Given the description of an element on the screen output the (x, y) to click on. 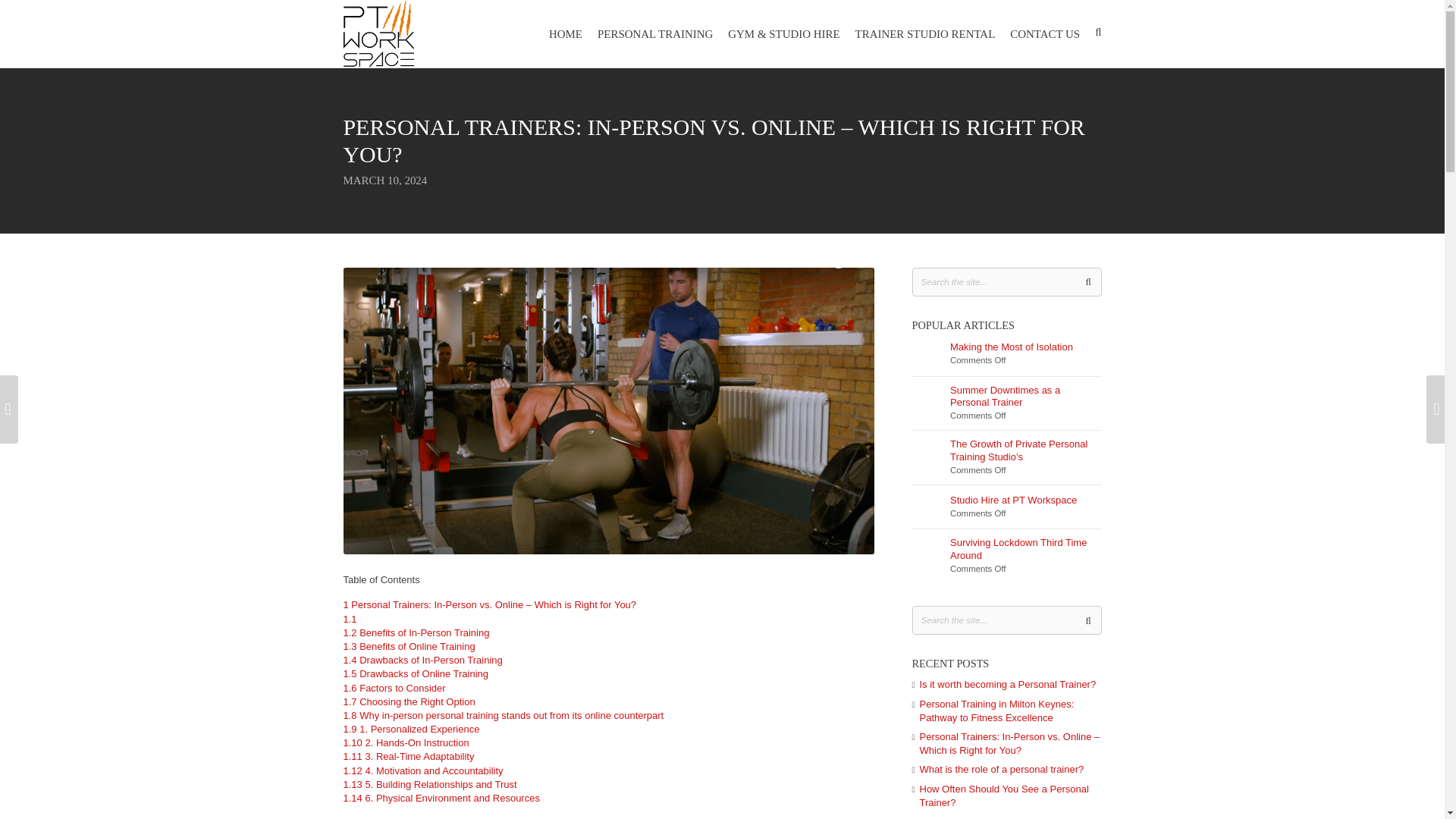
1.3 Benefits of Online Training (408, 645)
1.2 Benefits of In-Person Training (415, 632)
1.9 1. Personalized Experience (410, 728)
1.14 6. Physical Environment and Resources (440, 797)
PT WorkSpace (377, 33)
1.11 3. Real-Time Adaptability (408, 756)
TRAINER STUDIO RENTAL (925, 33)
1.1 (349, 618)
1.12 4. Motivation and Accountability (422, 770)
1.13 5. Building Relationships and Trust (429, 784)
1.10 2. Hands-On Instruction (405, 742)
1.6 Factors to Consider (393, 687)
1.7 Choosing the Right Option (408, 701)
CONTACT US (1045, 33)
